Given the description of an element on the screen output the (x, y) to click on. 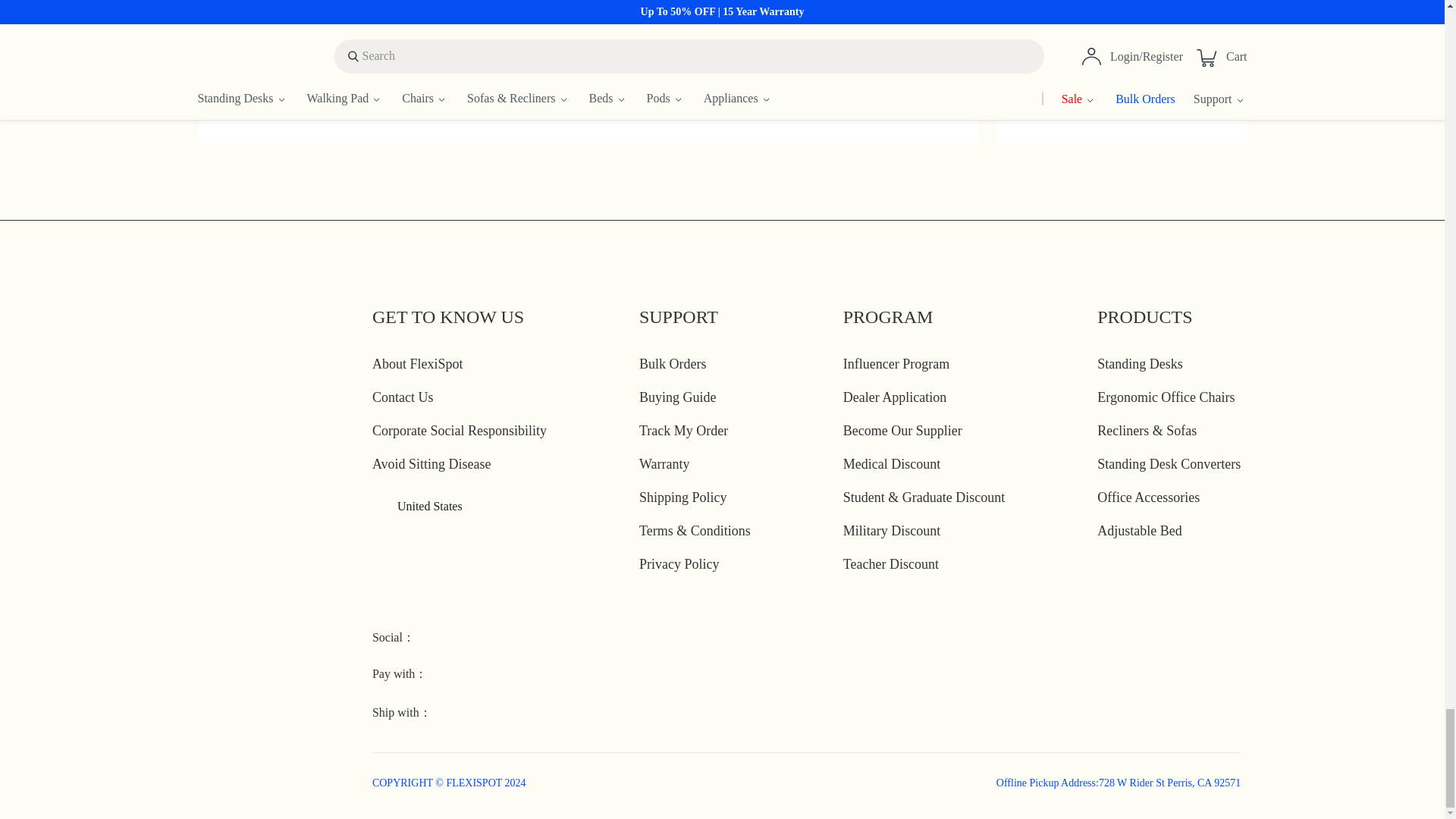
About FlexiSpot (417, 363)
Corporate Social Responsibility (459, 430)
Avoid Sitting Disease (432, 463)
Contact Us (402, 396)
Buying Guide (677, 396)
Bulk Orders (672, 363)
